Given the description of an element on the screen output the (x, y) to click on. 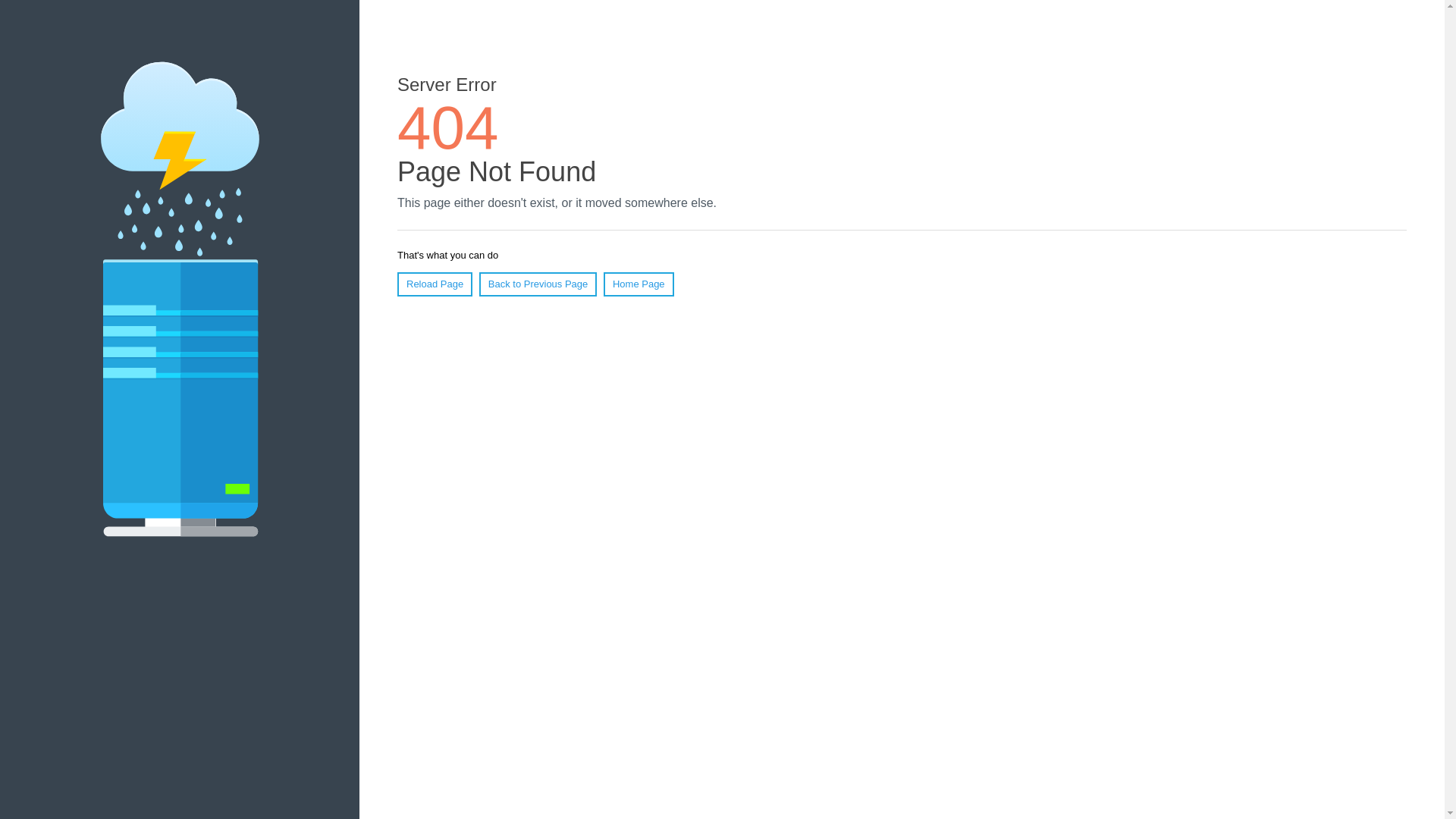
Reload Page Element type: text (434, 284)
Back to Previous Page Element type: text (538, 284)
Home Page Element type: text (638, 284)
